Given the description of an element on the screen output the (x, y) to click on. 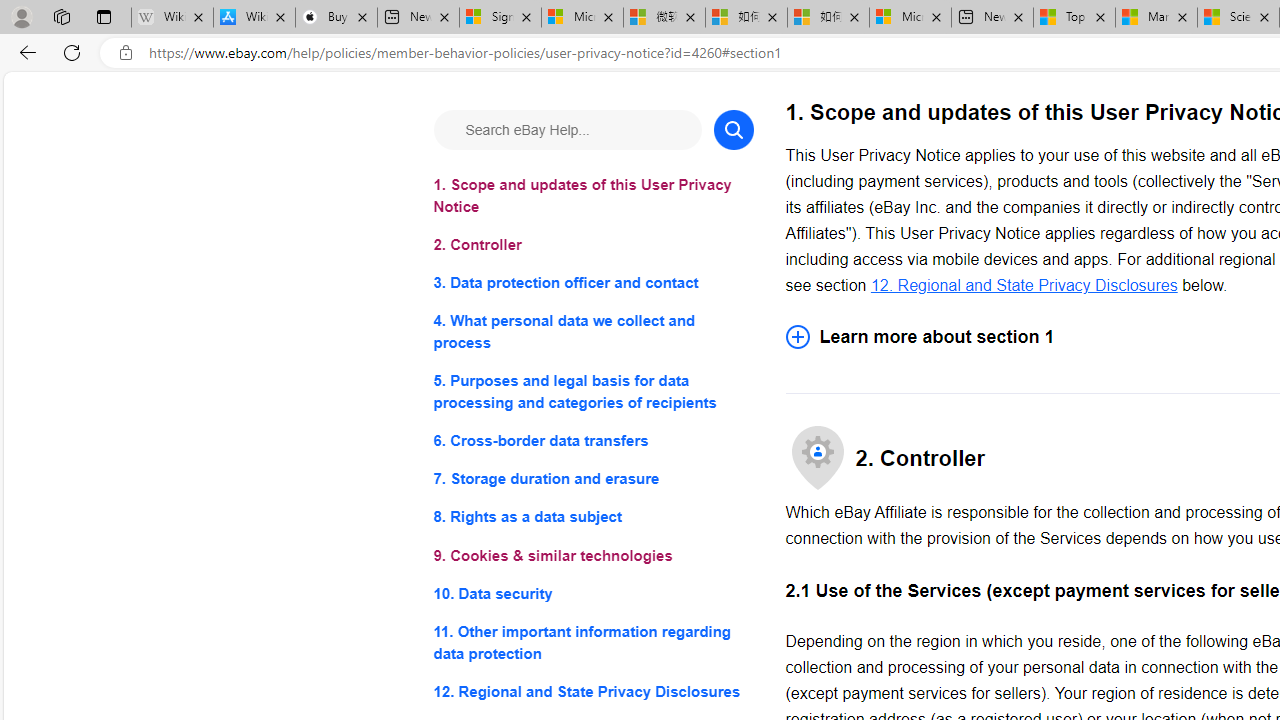
6. Cross-border data transfers (592, 440)
10. Data security (592, 592)
7. Storage duration and erasure (592, 479)
11. Other important information regarding data protection (592, 642)
11. Other important information regarding data protection (592, 642)
3. Data protection officer and contact (592, 283)
